Given the description of an element on the screen output the (x, y) to click on. 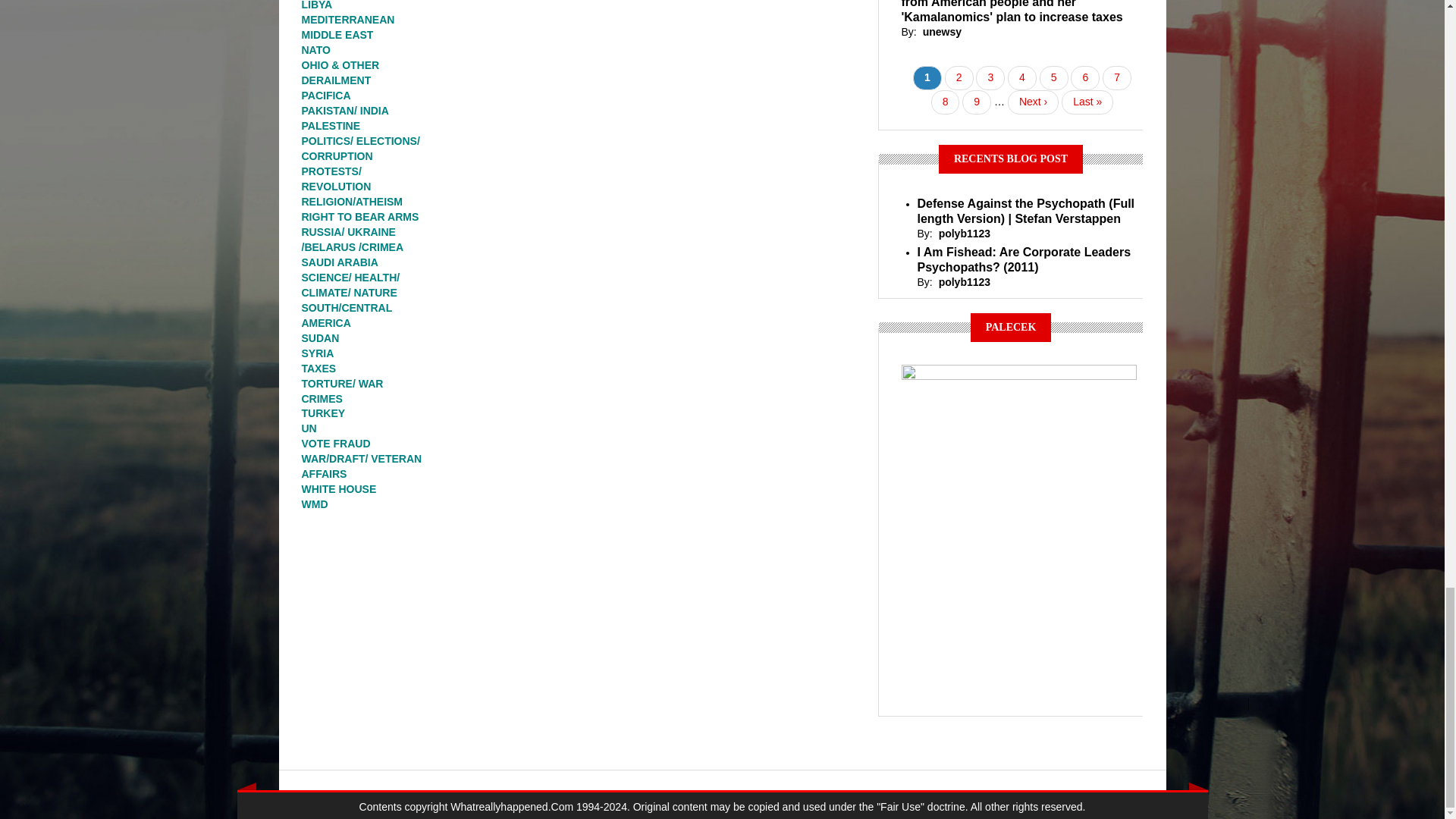
Go to page 2 (959, 78)
Go to next page (1032, 102)
Go to page 6 (1084, 78)
Go to last page (1087, 102)
Go to page 4 (1021, 78)
Current page (927, 78)
Go to page 8 (945, 102)
Go to page 5 (1053, 78)
Go to page 3 (989, 78)
Go to page 9 (976, 102)
